Given the description of an element on the screen output the (x, y) to click on. 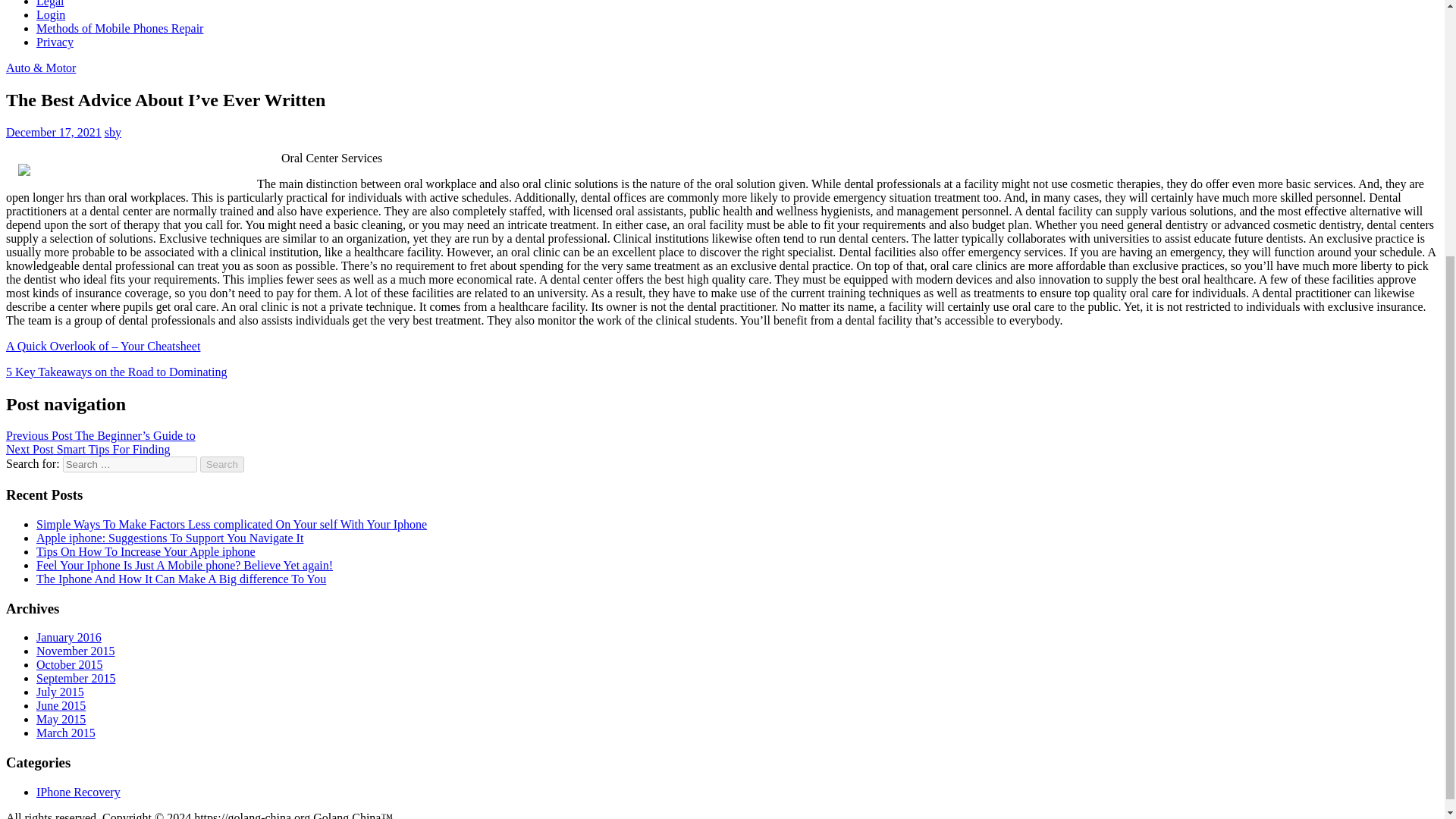
Legal (50, 3)
Search (222, 464)
March 2015 (66, 732)
May 2015 (60, 718)
Apple iphone: Suggestions To Support You Navigate It (169, 537)
November 2015 (75, 650)
IPhone Recovery (78, 791)
June 2015 (60, 705)
September 2015 (75, 677)
Methods of Mobile Phones Repair (119, 28)
Search (222, 464)
5 Key Takeaways on the Road to Dominating (116, 371)
Feel Your Iphone Is Just A Mobile phone? Believe Yet again! (184, 564)
October 2015 (69, 664)
Login (50, 14)
